Given the description of an element on the screen output the (x, y) to click on. 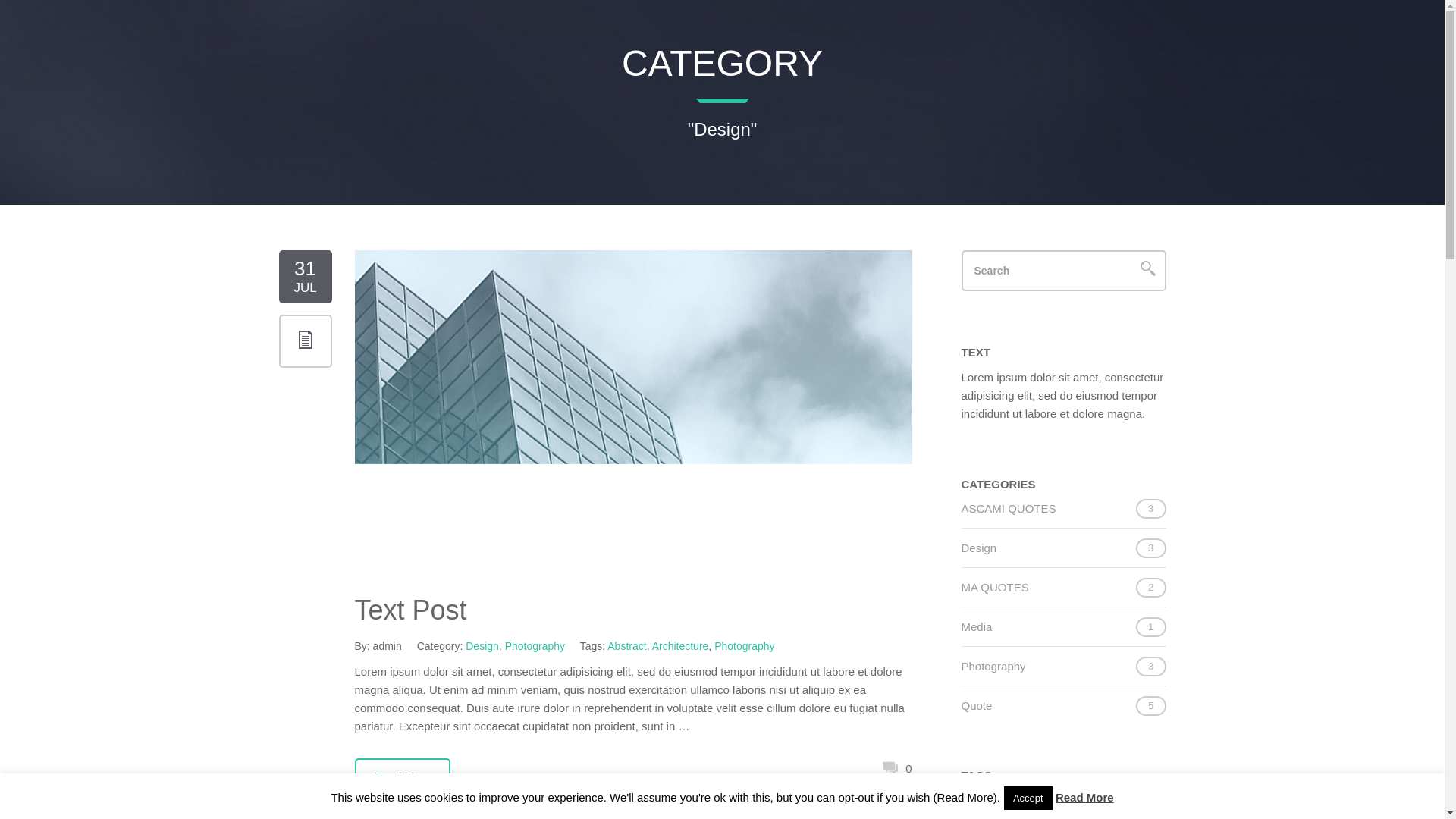
Text Post Element type: text (410, 609)
Quote
5 Element type: text (976, 705)
MA QUOTES
2 Element type: text (995, 586)
Photography Element type: text (534, 646)
Photography Element type: text (744, 646)
Media
1 Element type: text (976, 626)
Abstract Element type: text (626, 646)
Accept Element type: text (1028, 797)
Architecture Element type: text (680, 646)
ASCAMI QUOTES
3 Element type: text (1008, 508)
Read More Element type: text (402, 775)
Design
3 Element type: text (979, 547)
Design Element type: text (481, 646)
0 Element type: text (896, 768)
Photography
3 Element type: text (993, 665)
Read More Element type: text (1084, 796)
